Given the description of an element on the screen output the (x, y) to click on. 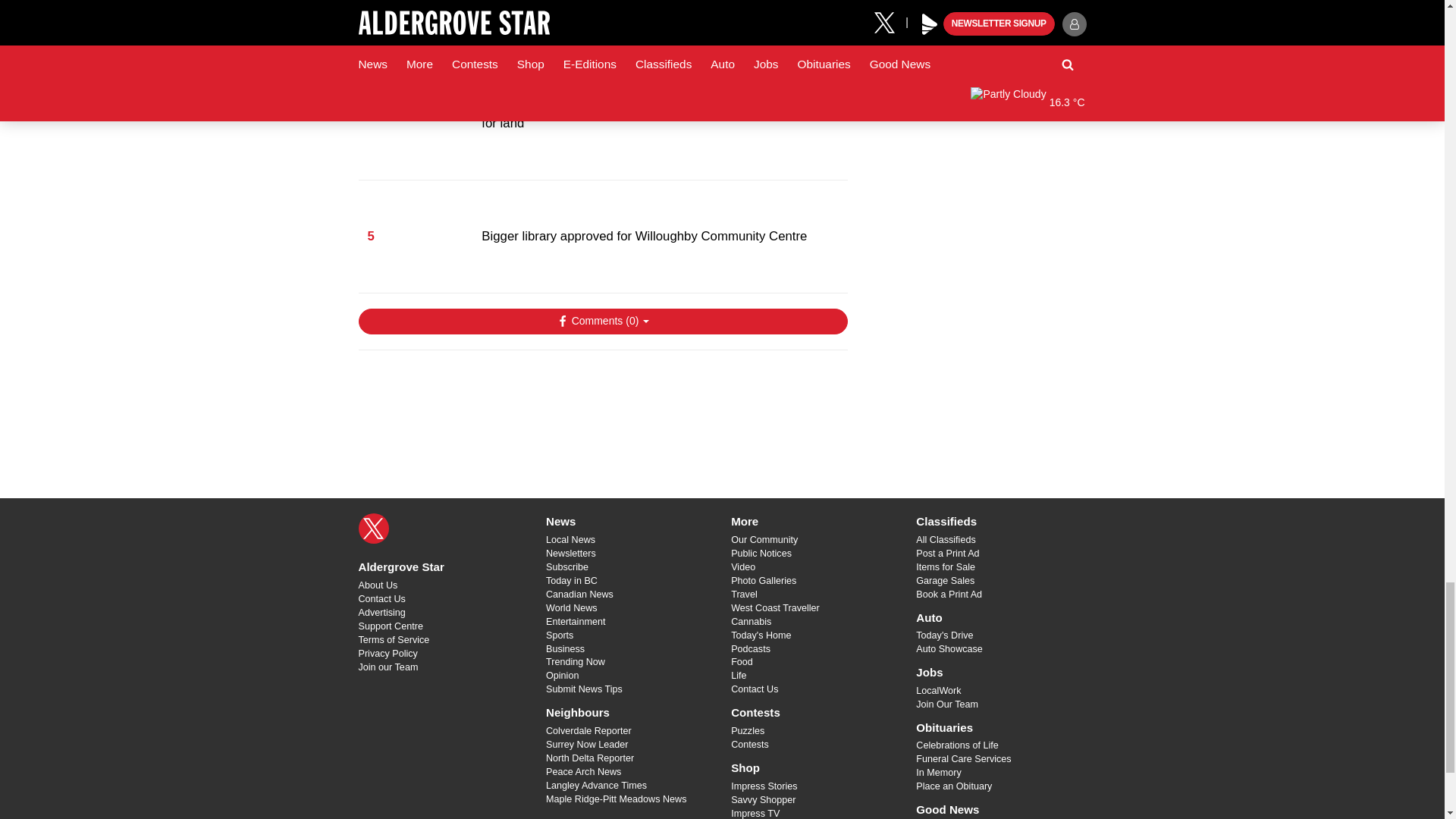
Show Comments (602, 321)
X (373, 528)
